Given the description of an element on the screen output the (x, y) to click on. 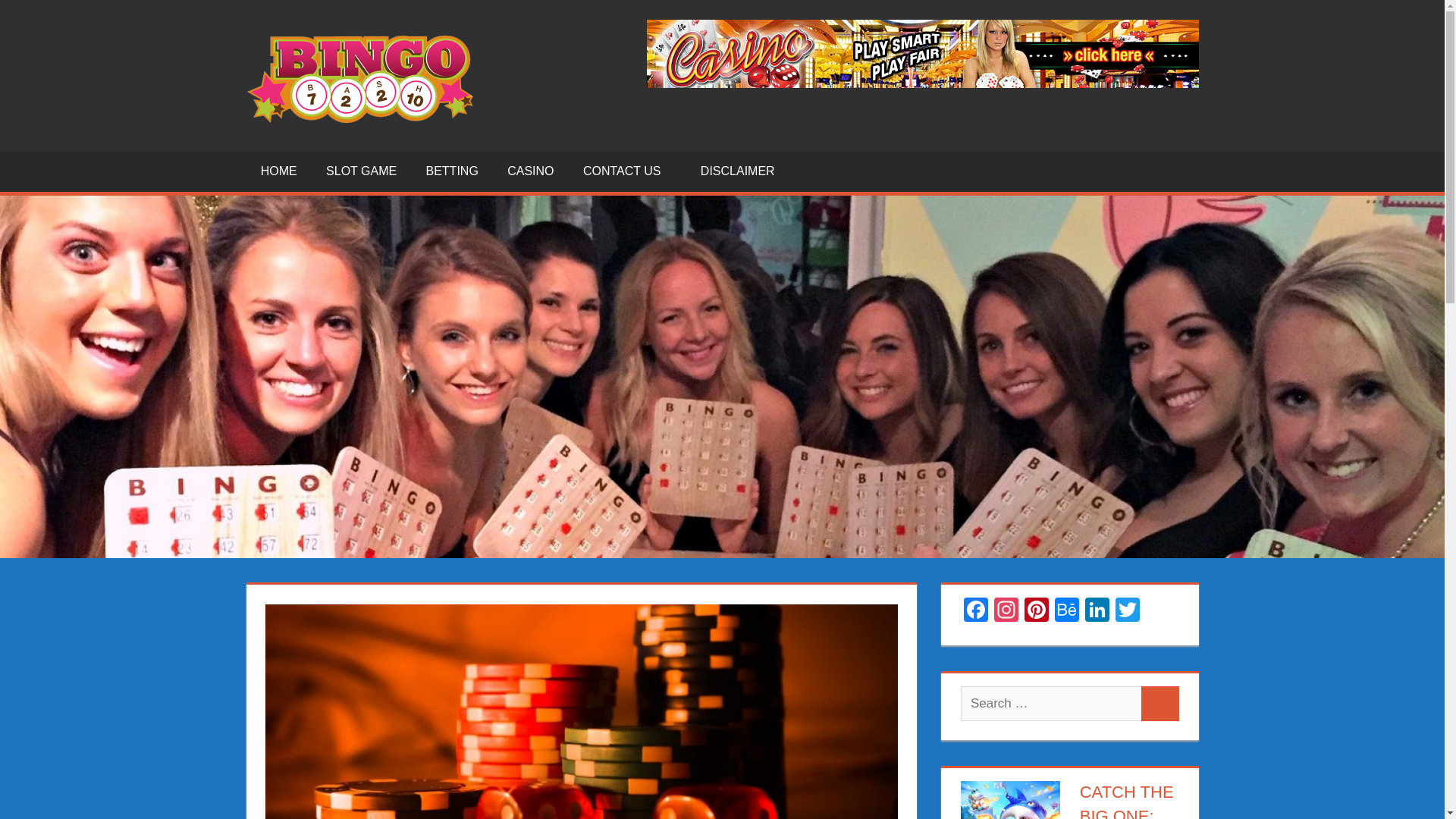
Twitter (1127, 611)
Facebook (975, 611)
HOME (278, 171)
Twitter (1127, 611)
Behance (1066, 611)
Behance (1066, 611)
CONTACT US (627, 171)
SLOT GAME (360, 171)
LinkedIn (1096, 611)
Search (1160, 703)
Pinterest (1036, 611)
DISCLAIMER (737, 171)
Instagram (1006, 611)
CASINO (531, 171)
